Given the description of an element on the screen output the (x, y) to click on. 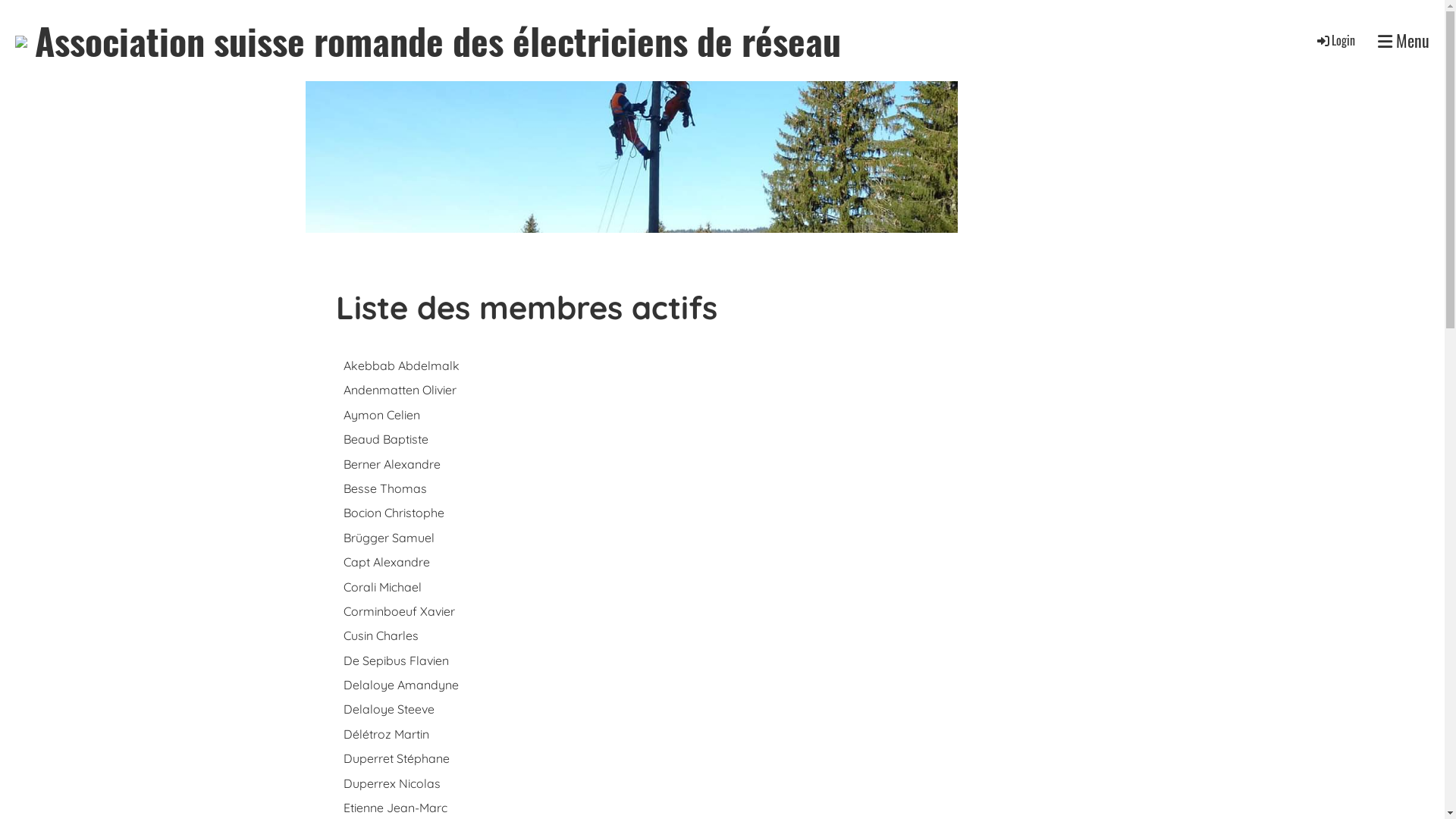
Login Element type: text (1334, 40)
Menu Element type: text (1403, 40)
